Given the description of an element on the screen output the (x, y) to click on. 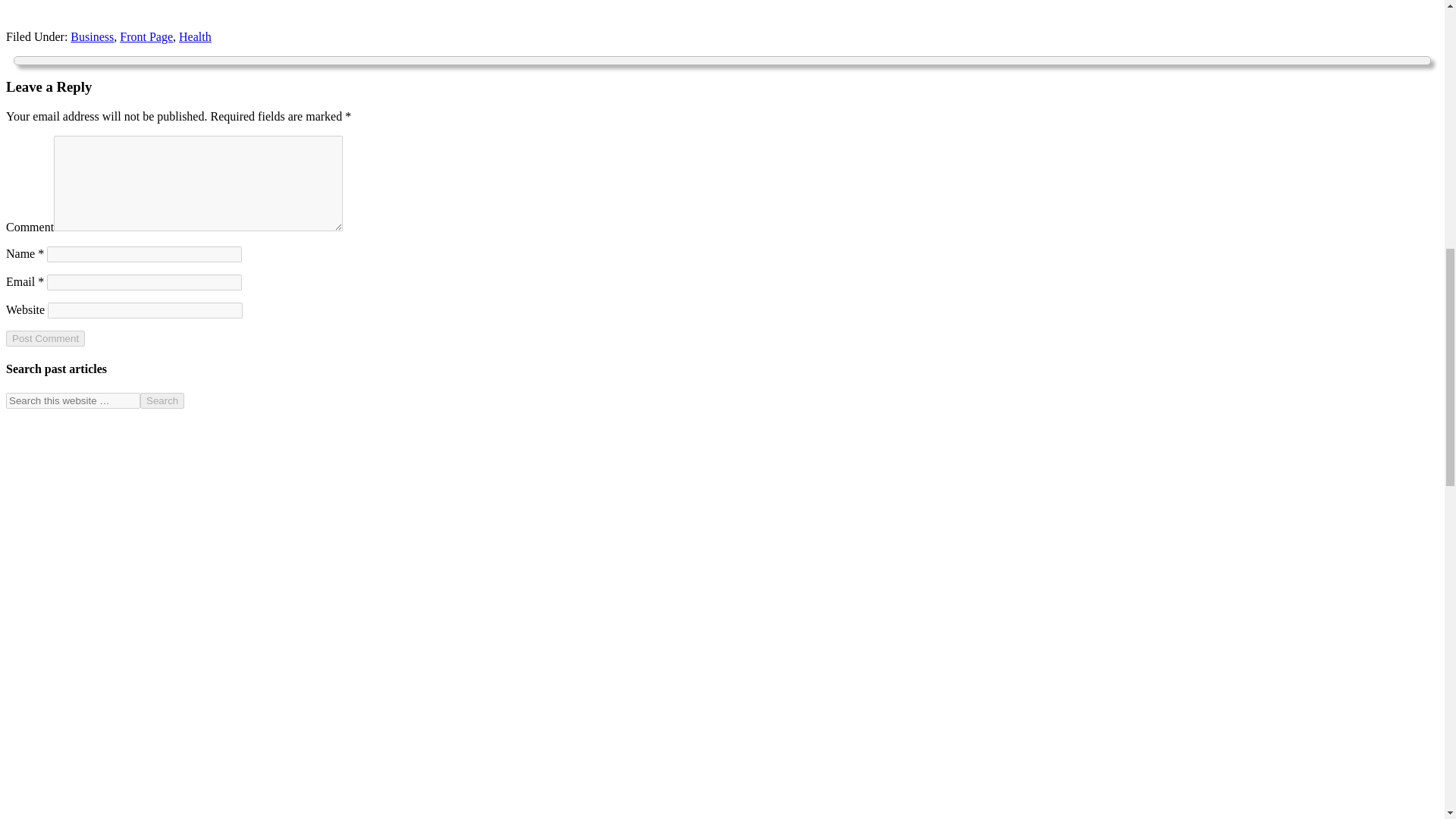
Pin it with Pinterest (185, 7)
Share on Twitter (64, 7)
Share on tumblr (265, 7)
Front Page (146, 36)
Search (161, 400)
Share on Facebook (23, 7)
Business (91, 36)
Post Comment (44, 338)
Share on Linkedin (224, 7)
Post Comment (44, 338)
Search (161, 400)
Share on Reddit (144, 7)
Health (195, 36)
